Given the description of an element on the screen output the (x, y) to click on. 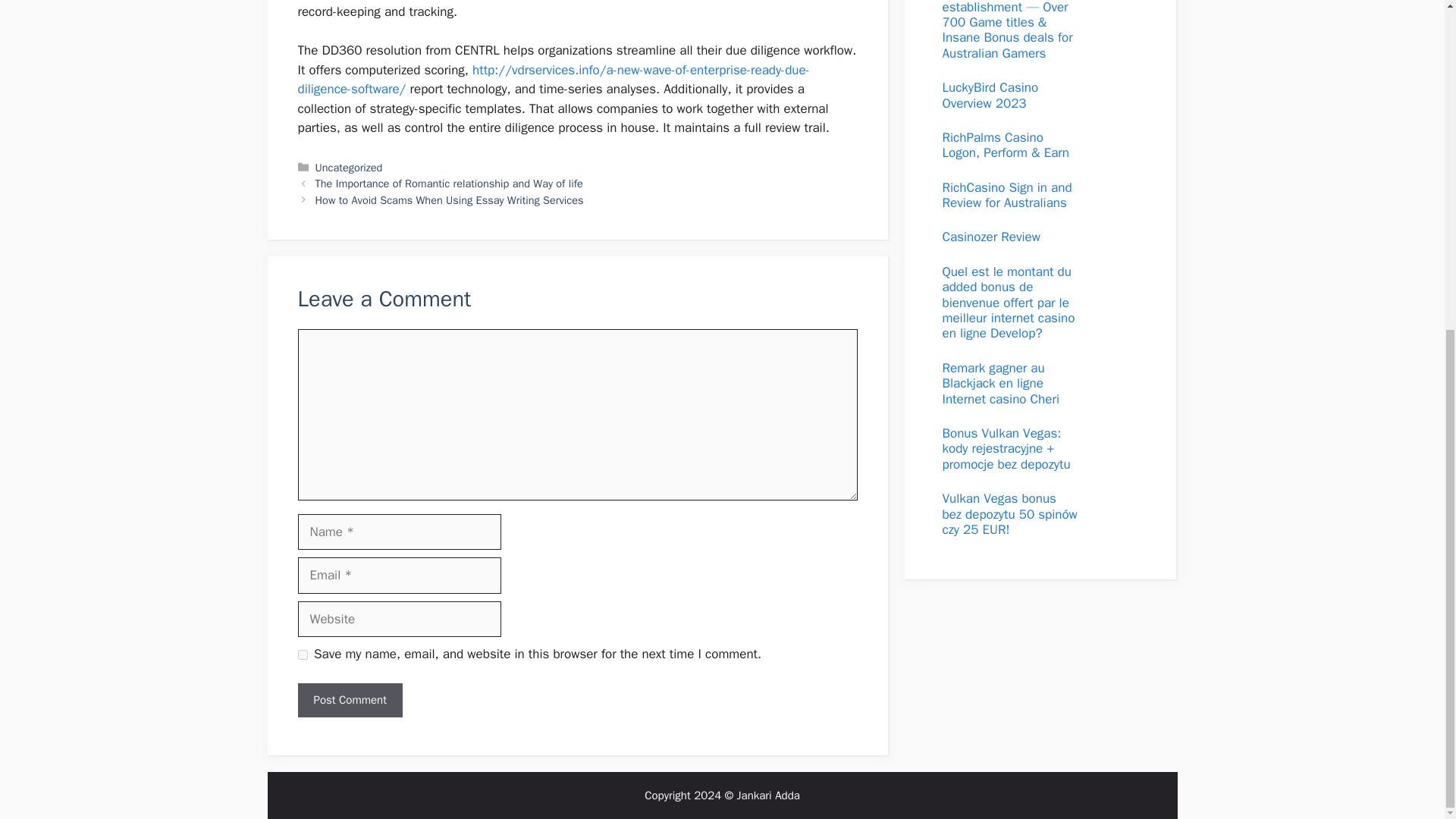
How to Avoid Scams When Using Essay Writing Services (449, 200)
yes (302, 655)
RichCasino Sign in and Review for Australians (1006, 194)
Post Comment (349, 700)
LuckyBird Casino Overview 2023 (990, 94)
Remark gagner au Blackjack en ligne Internet casino Cheri (1000, 383)
Post Comment (349, 700)
Casinozer Review (990, 236)
Uncategorized (348, 167)
The Importance of Romantic relationship and Way of life (449, 183)
